Given the description of an element on the screen output the (x, y) to click on. 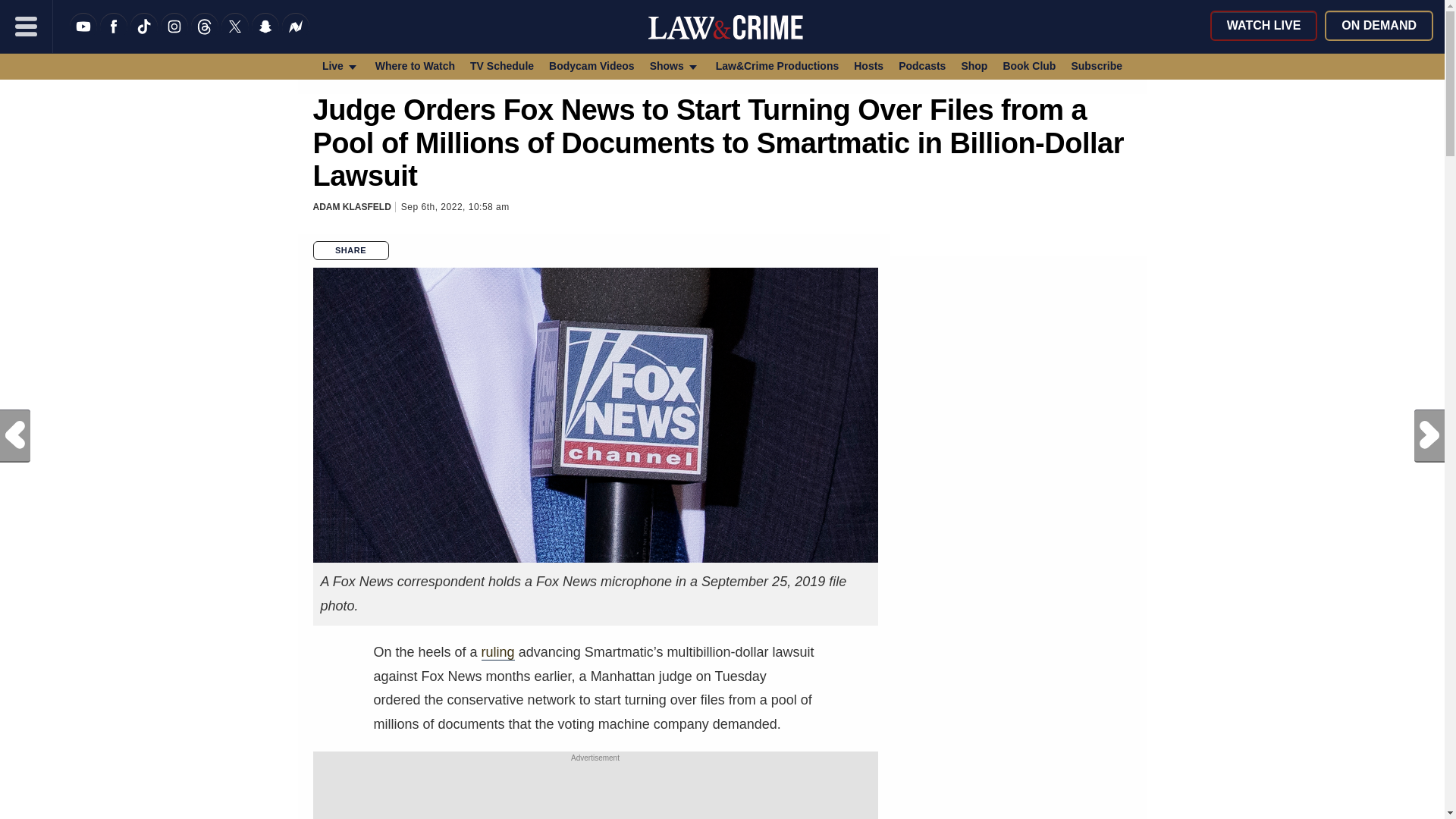
Threads (204, 35)
Snapchat (265, 35)
Like us on Facebook (114, 35)
Instagram (173, 35)
YouTube (83, 35)
TikTok (144, 35)
